Given the description of an element on the screen output the (x, y) to click on. 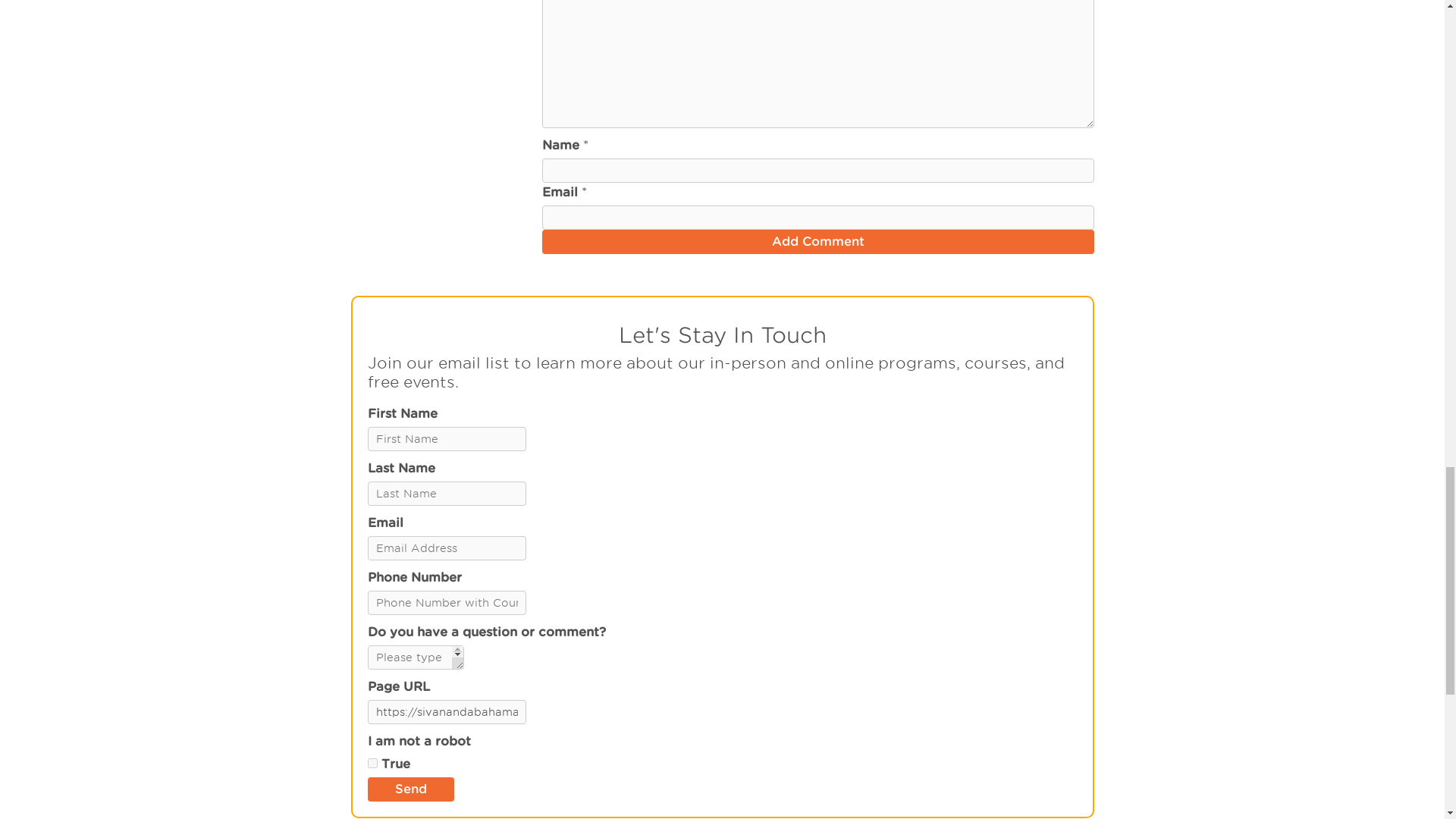
Add Comment (817, 241)
True (371, 763)
